Given the description of an element on the screen output the (x, y) to click on. 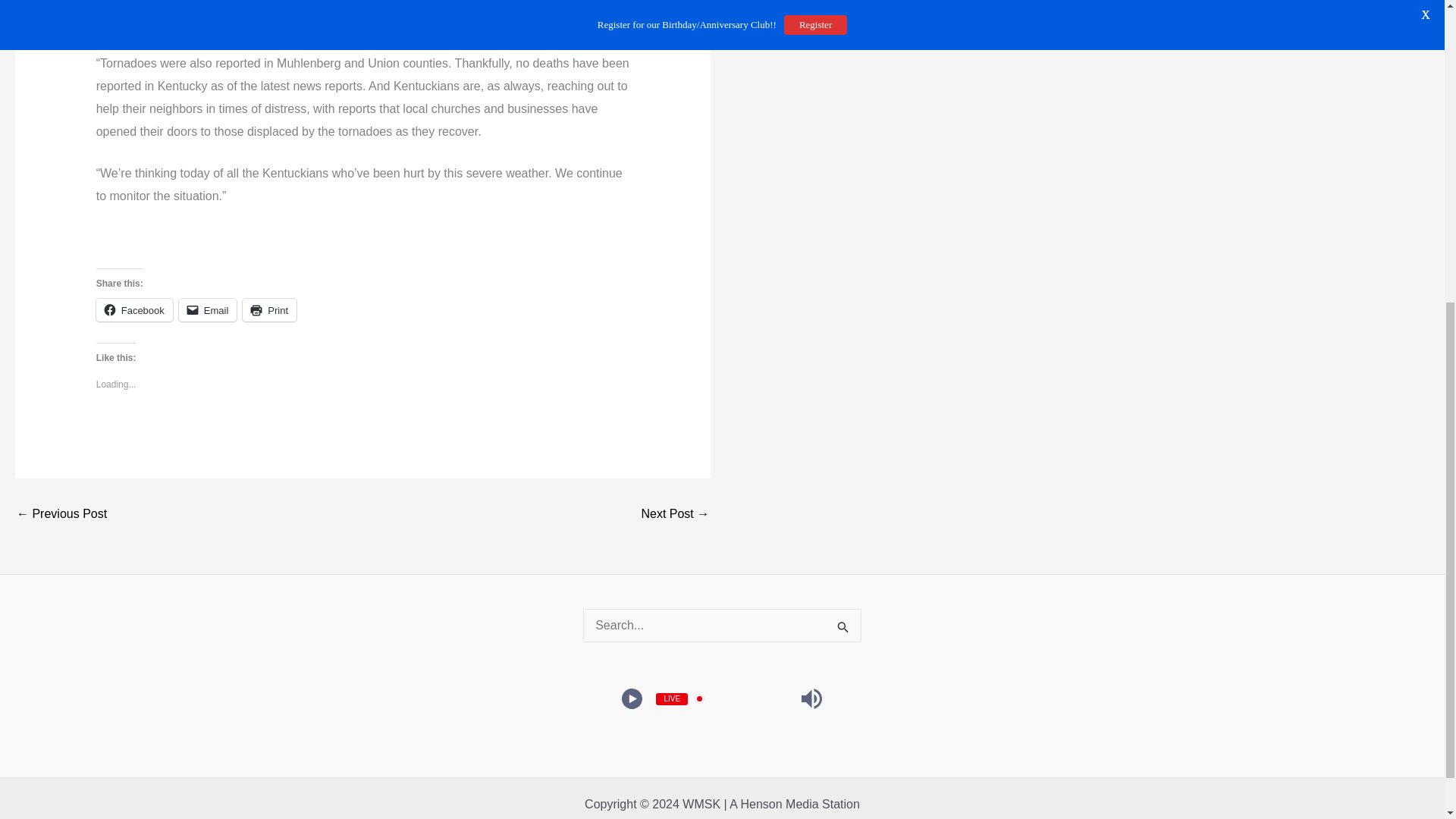
Click to share on Facebook (134, 309)
Click to print (270, 309)
Play (632, 698)
Click to email a link to a friend (208, 309)
Fort Campbell soldier dies during training in Louisiana (61, 513)
